Given the description of an element on the screen output the (x, y) to click on. 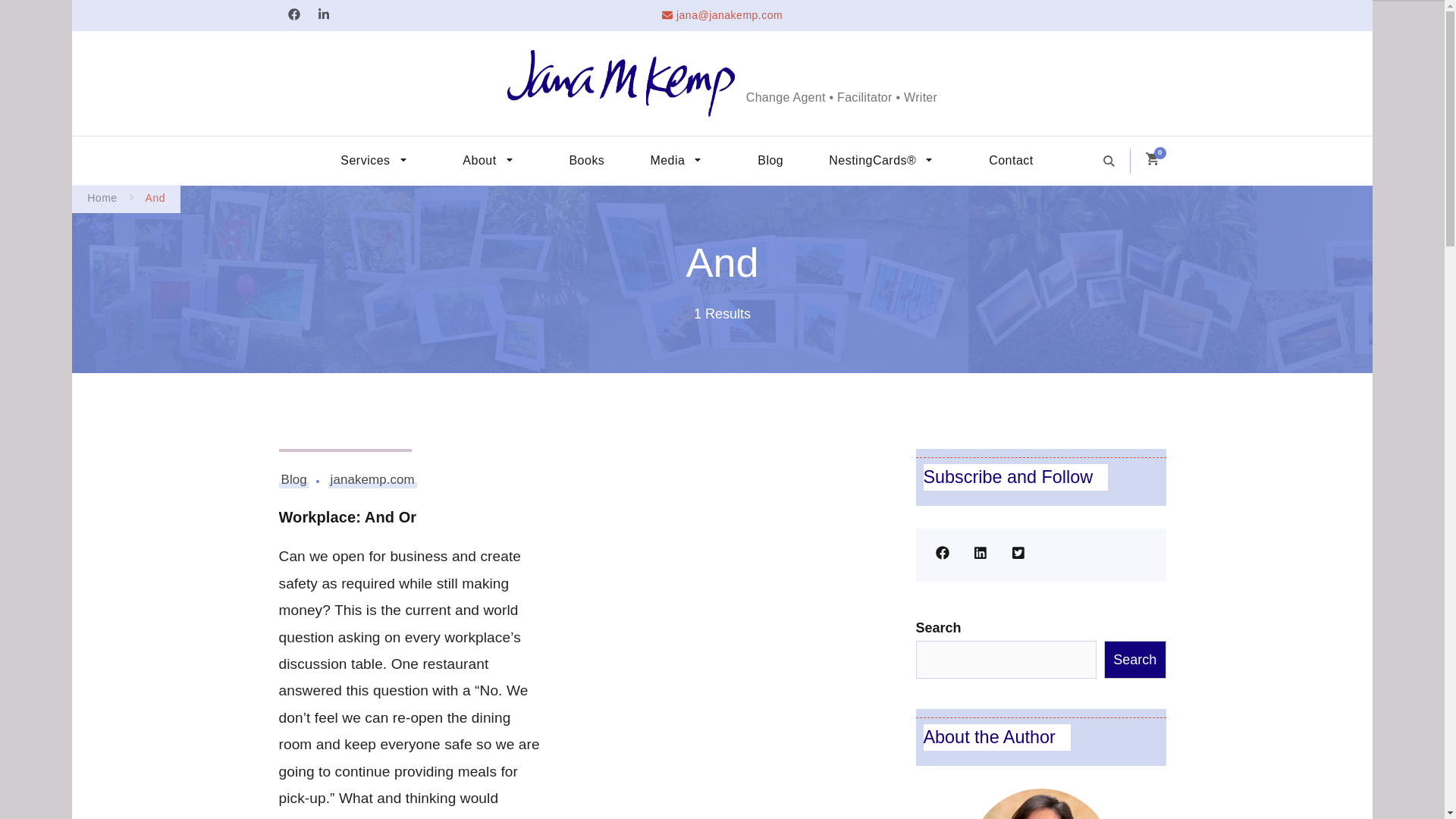
Books (586, 160)
View your shopping cart (1151, 159)
Contact (1011, 160)
Services (378, 160)
Blog (770, 160)
Media (681, 160)
About (492, 160)
